Given the description of an element on the screen output the (x, y) to click on. 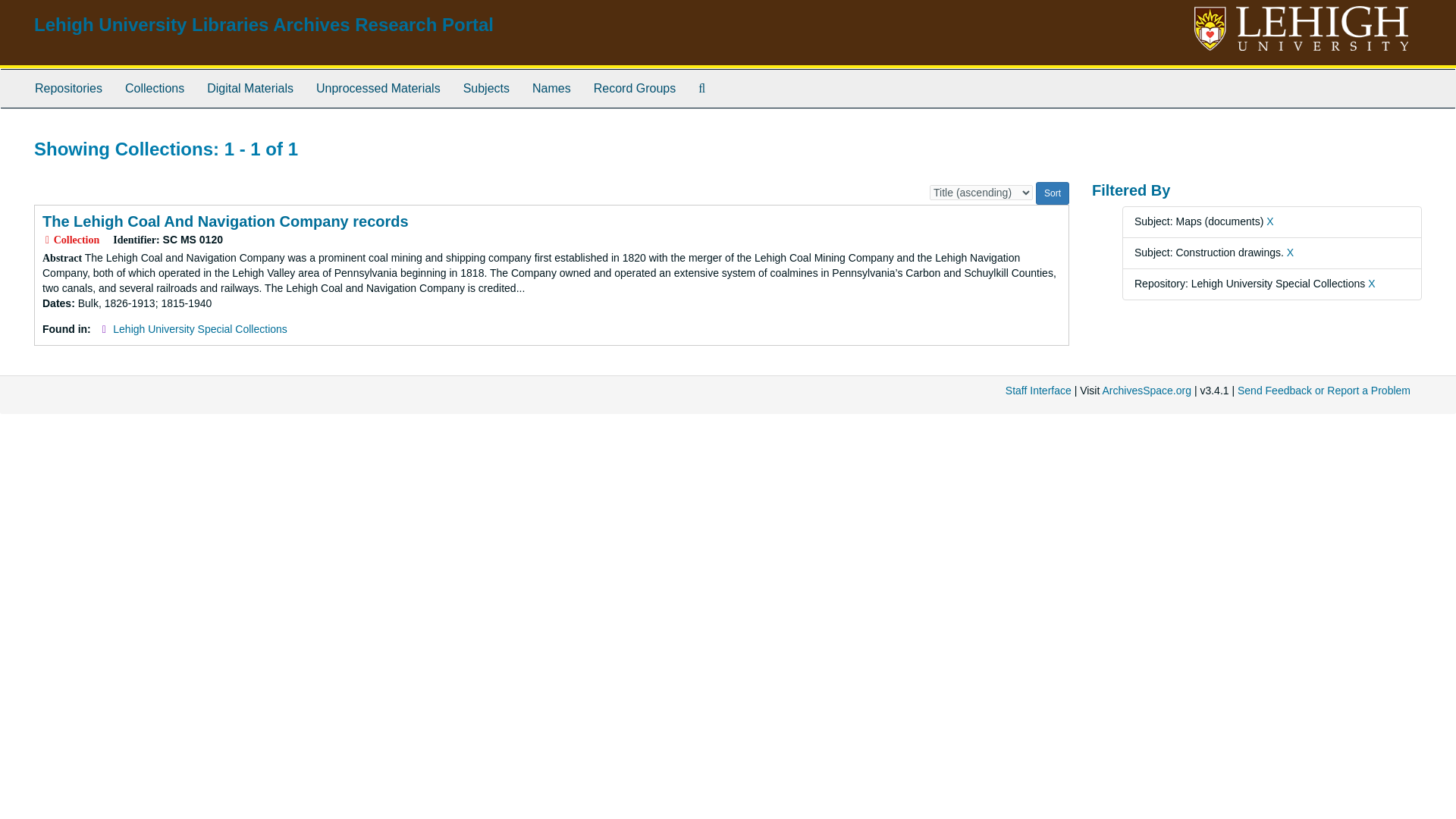
Sort (1051, 192)
Names (551, 88)
Unprocessed Materials (377, 88)
Repositories (68, 88)
The Lehigh Coal And Navigation Company records (225, 221)
Collections (154, 88)
Lehigh University Libraries Archives Research Portal (263, 24)
Digital Materials (249, 88)
Send Feedback or Report a Problem (1323, 390)
Record Groups (634, 88)
